Given the description of an element on the screen output the (x, y) to click on. 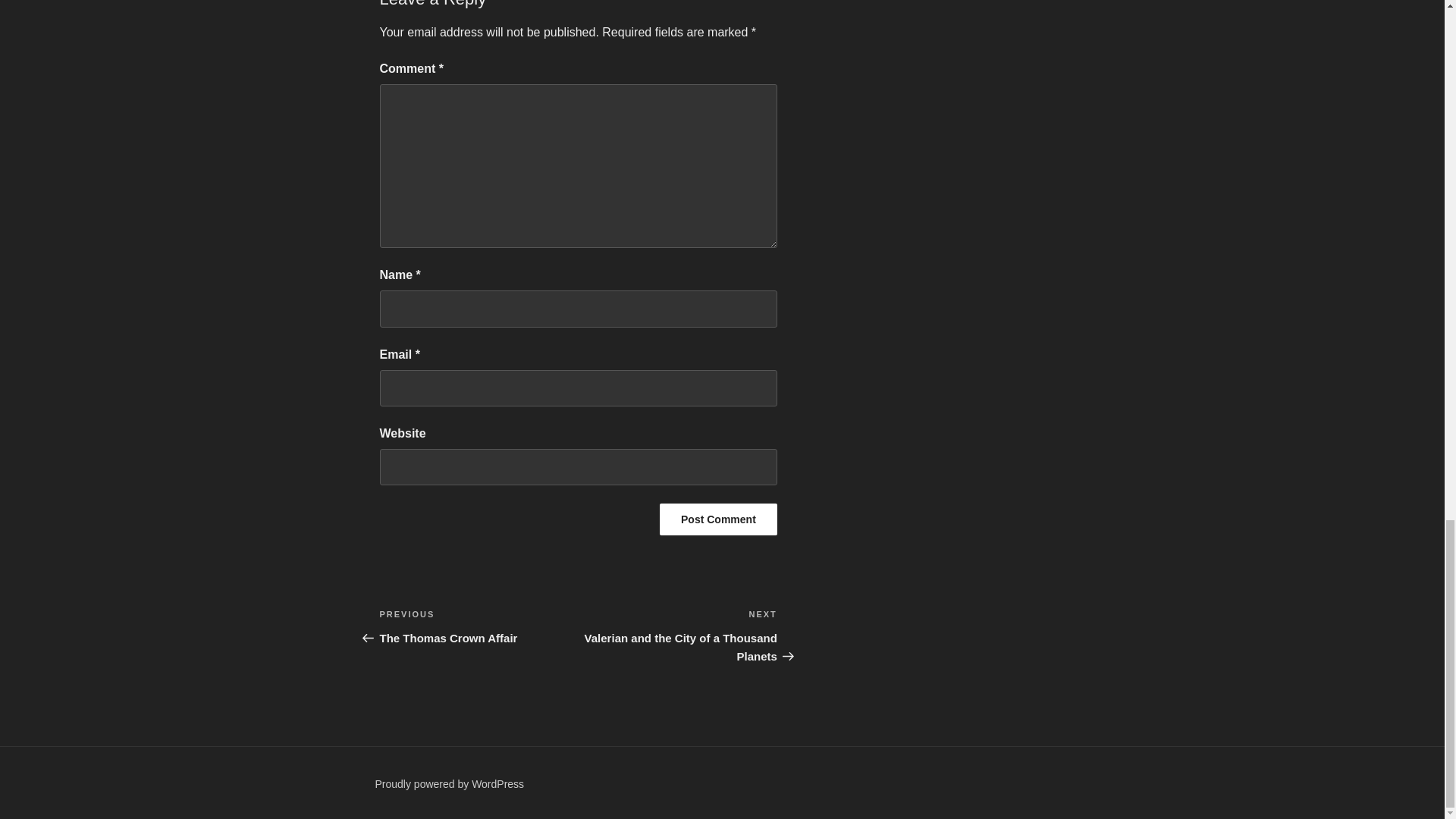
Post Comment (718, 519)
Proudly powered by WordPress (449, 784)
Post Comment (718, 519)
